Given the description of an element on the screen output the (x, y) to click on. 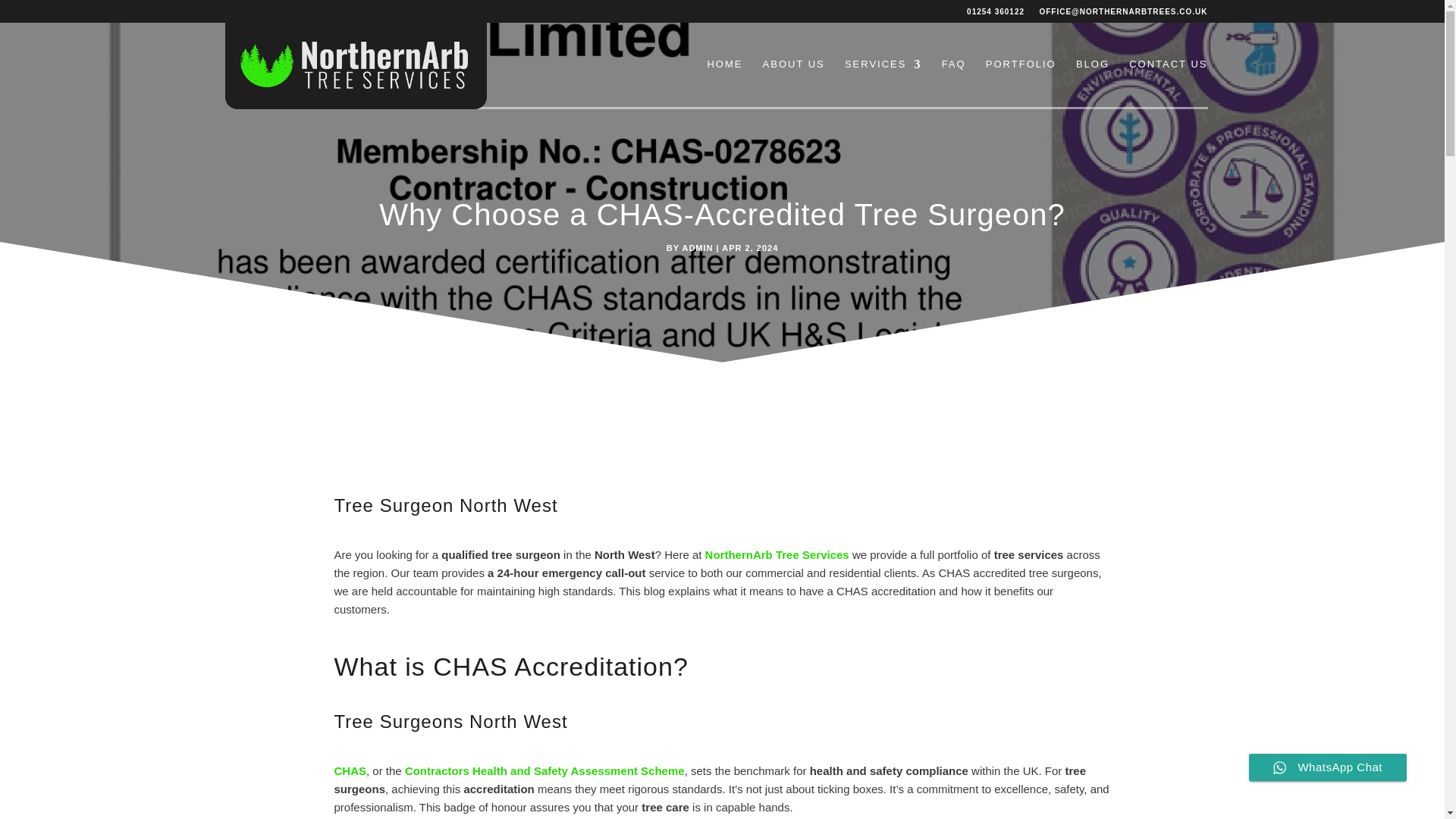
SERVICES (882, 82)
ADMIN (697, 247)
BLOG (1092, 82)
ABOUT US (793, 82)
01254 360122 (995, 14)
Posts by admin (697, 247)
FAQ (954, 82)
HOME (724, 82)
CHAS (349, 770)
CONTACT US (1168, 82)
PORTFOLIO (1021, 82)
Contractors Health and Safety Assessment Scheme (544, 770)
NorthernArb Tree Services (777, 554)
